Given the description of an element on the screen output the (x, y) to click on. 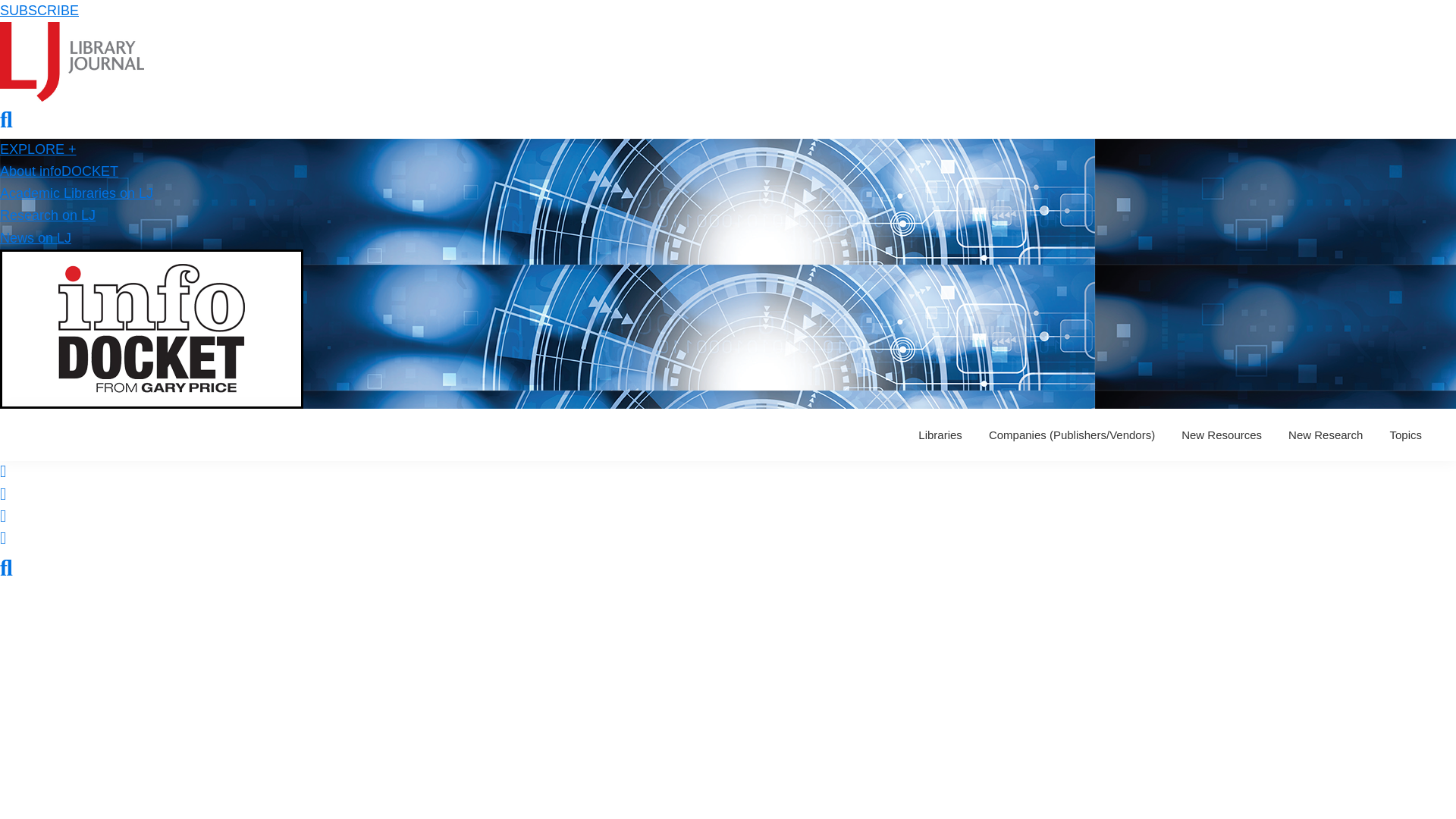
New Research (1325, 434)
SUBSCRIBE (39, 10)
About infoDOCKET (58, 171)
Research on LJ (48, 215)
New Resources (1221, 434)
Libraries (940, 434)
Academic Libraries on LJ (76, 192)
News on LJ (35, 237)
